Given the description of an element on the screen output the (x, y) to click on. 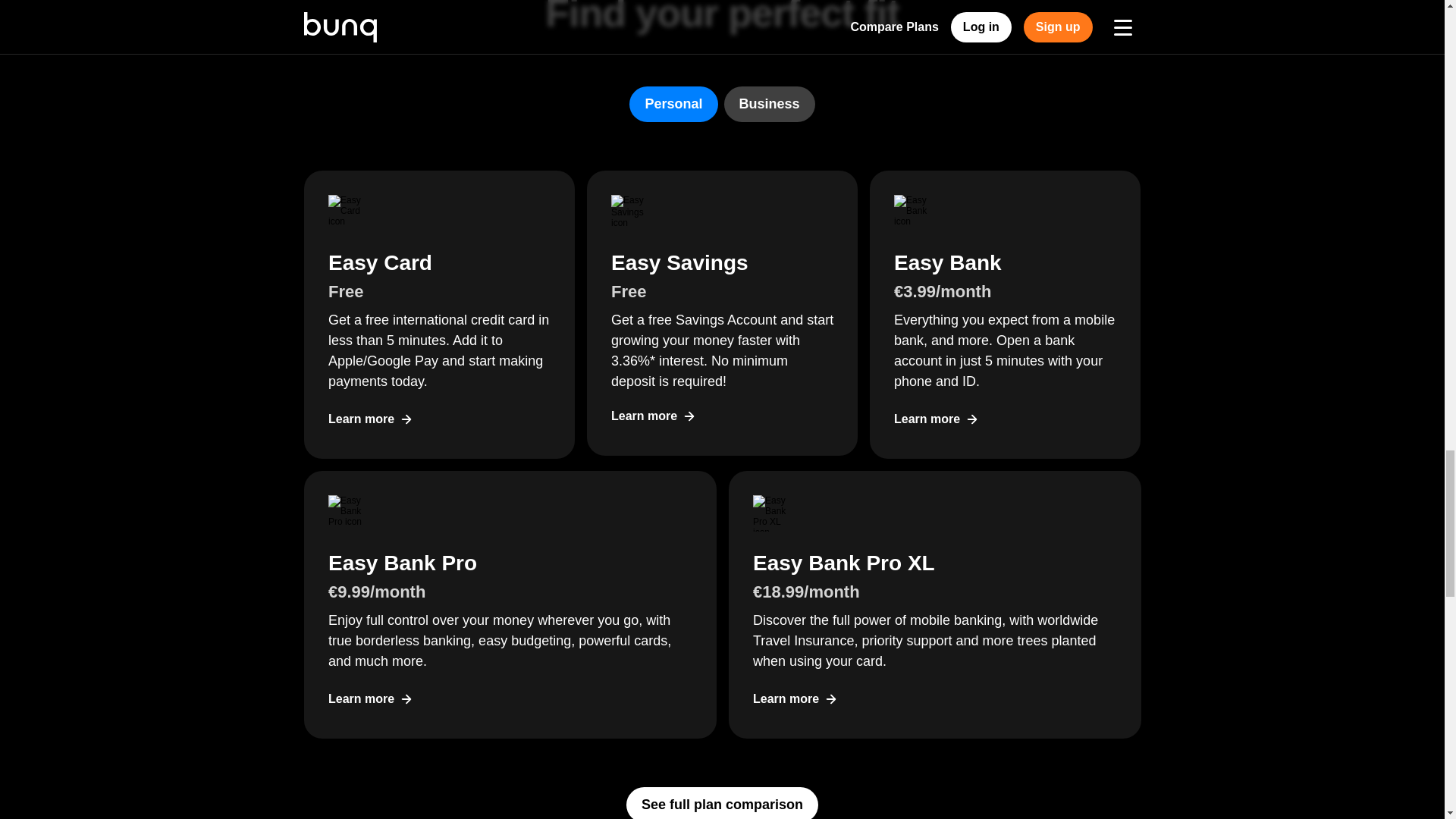
Learn more (795, 698)
Business (768, 104)
Learn more (370, 698)
Learn more (654, 416)
Learn more (370, 419)
See full plan comparison (722, 803)
Personal (672, 104)
Learn more (936, 419)
